Given the description of an element on the screen output the (x, y) to click on. 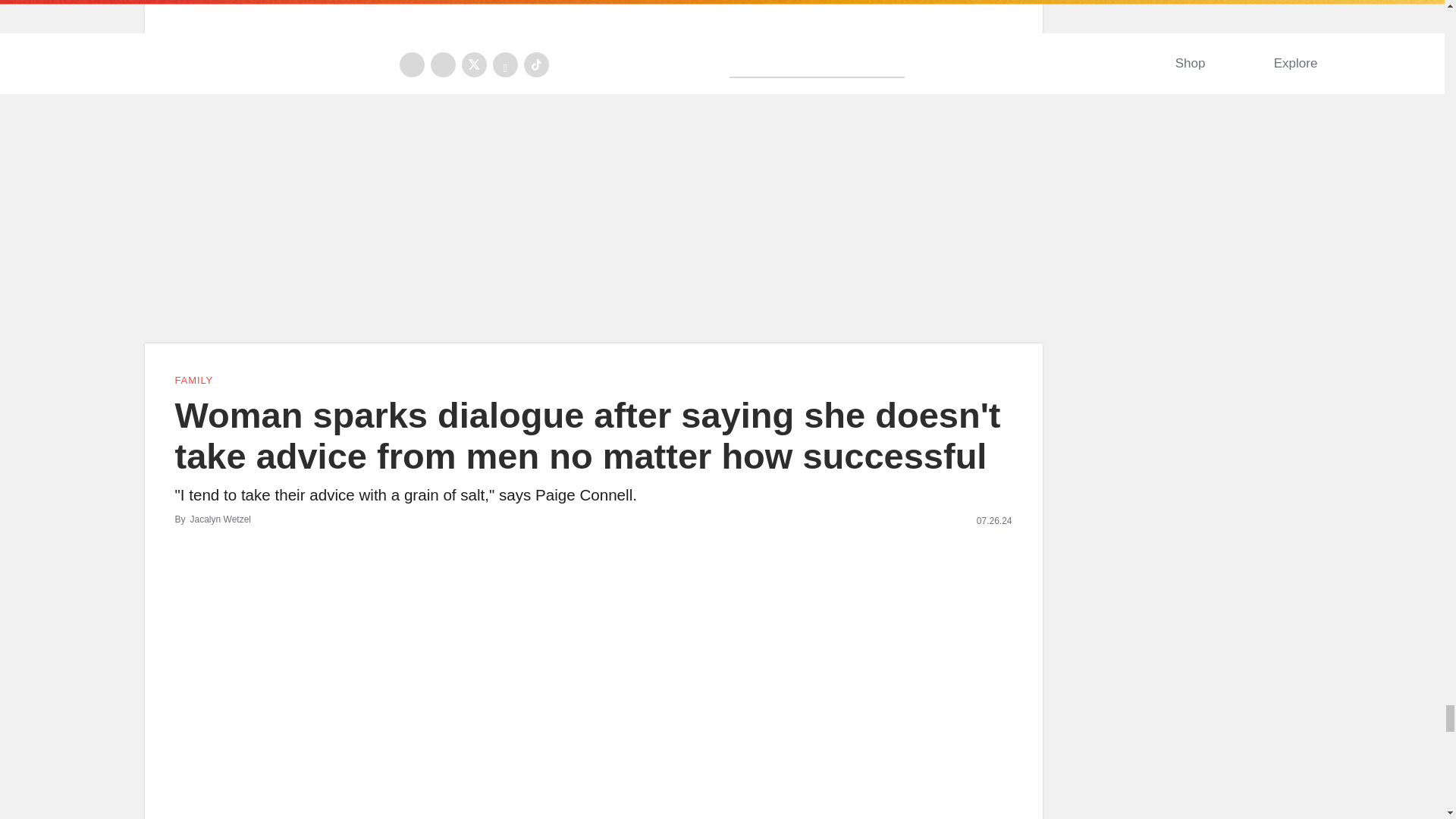
Copy this link to clipboard (1003, 45)
